Given the description of an element on the screen output the (x, y) to click on. 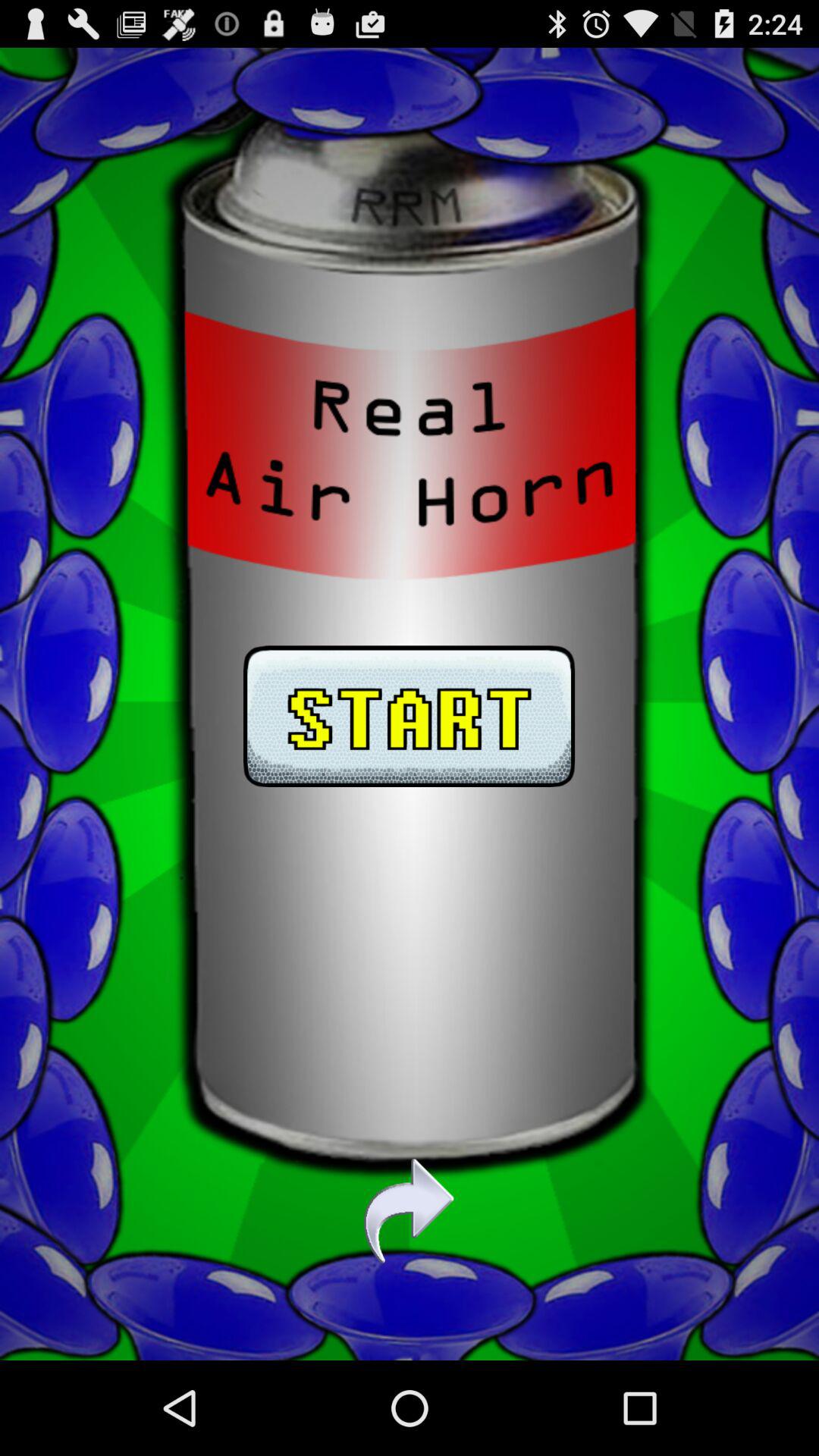
tap the icon at the bottom (408, 1211)
